Given the description of an element on the screen output the (x, y) to click on. 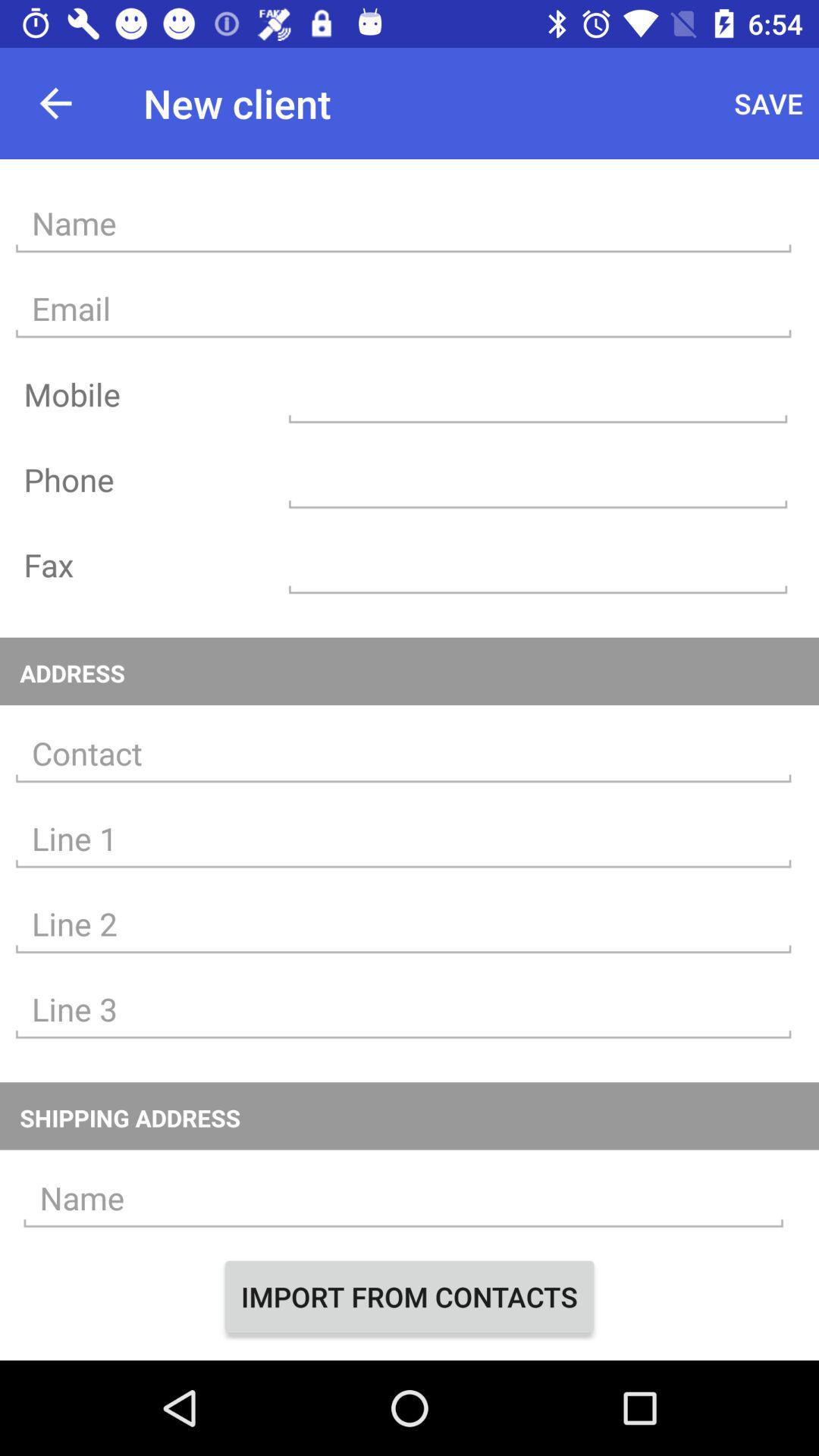
tap item to the left of new client item (55, 103)
